Given the description of an element on the screen output the (x, y) to click on. 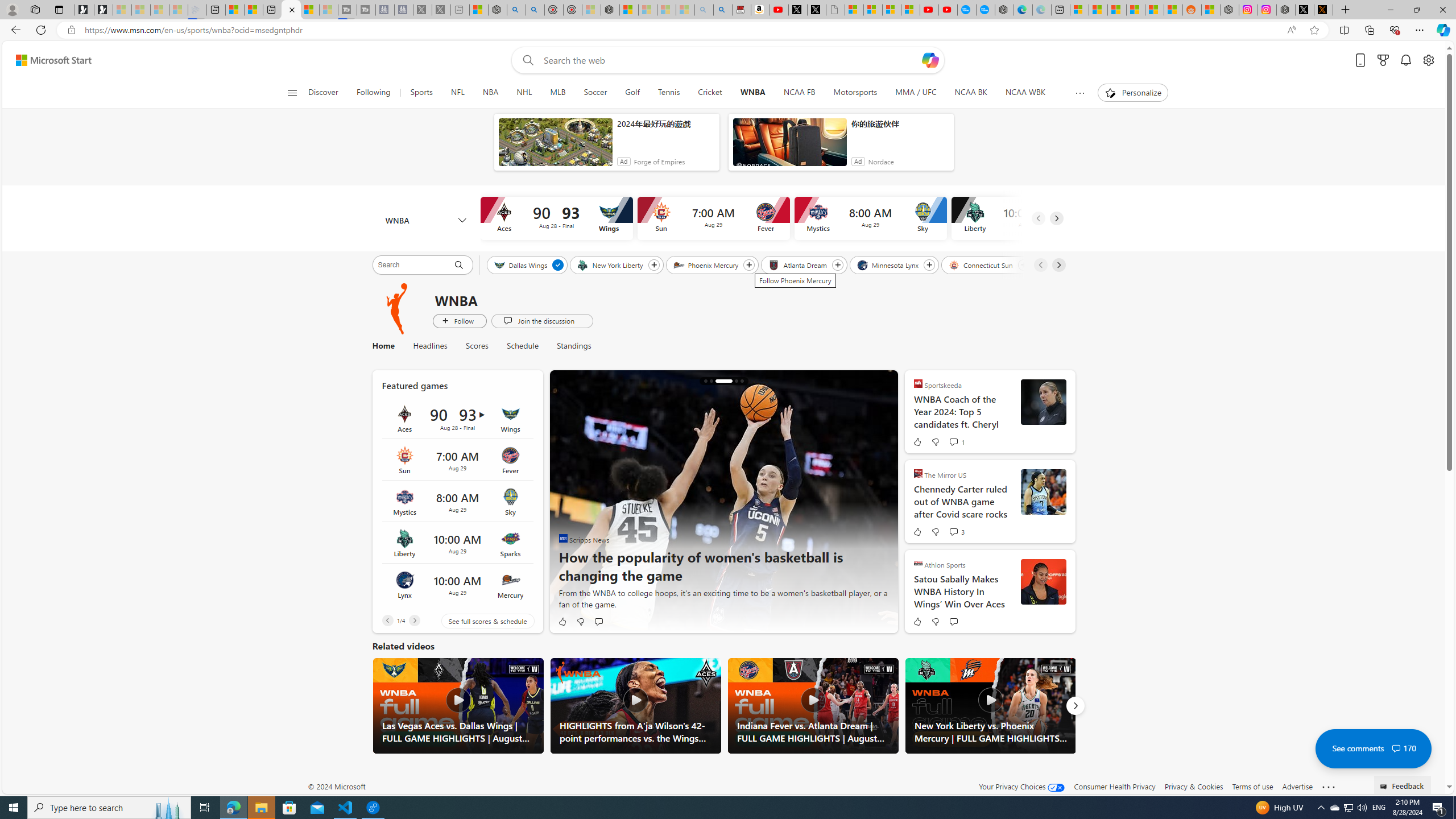
Untitled (835, 9)
Golf (632, 92)
The most popular Google 'how to' searches (985, 9)
NFL (457, 92)
Unfollow Dallas Wings (557, 265)
Nordace - Nordace Siena Is Not An Ordinary Backpack (609, 9)
NCAA FB (799, 92)
Notifications (1405, 60)
Amazon Echo Dot PNG - Search Images (722, 9)
